Given the description of an element on the screen output the (x, y) to click on. 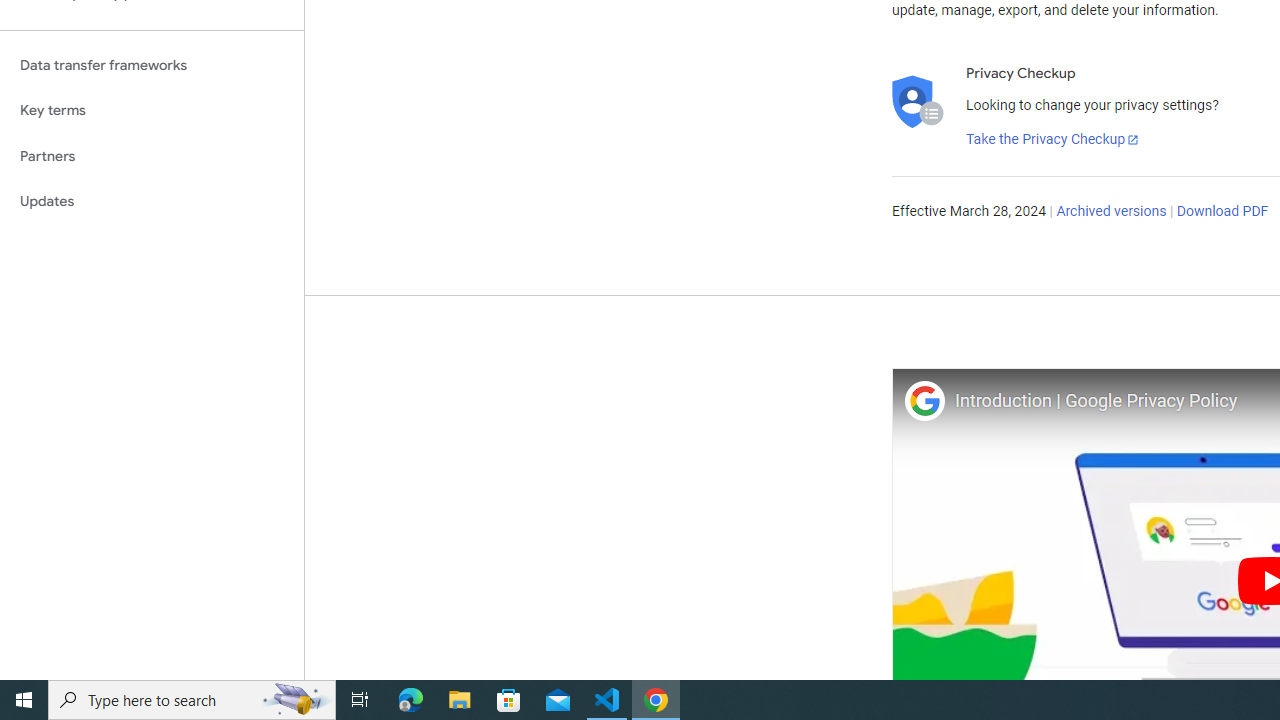
Photo image of Google (924, 400)
Take the Privacy Checkup (1053, 140)
